Given the description of an element on the screen output the (x, y) to click on. 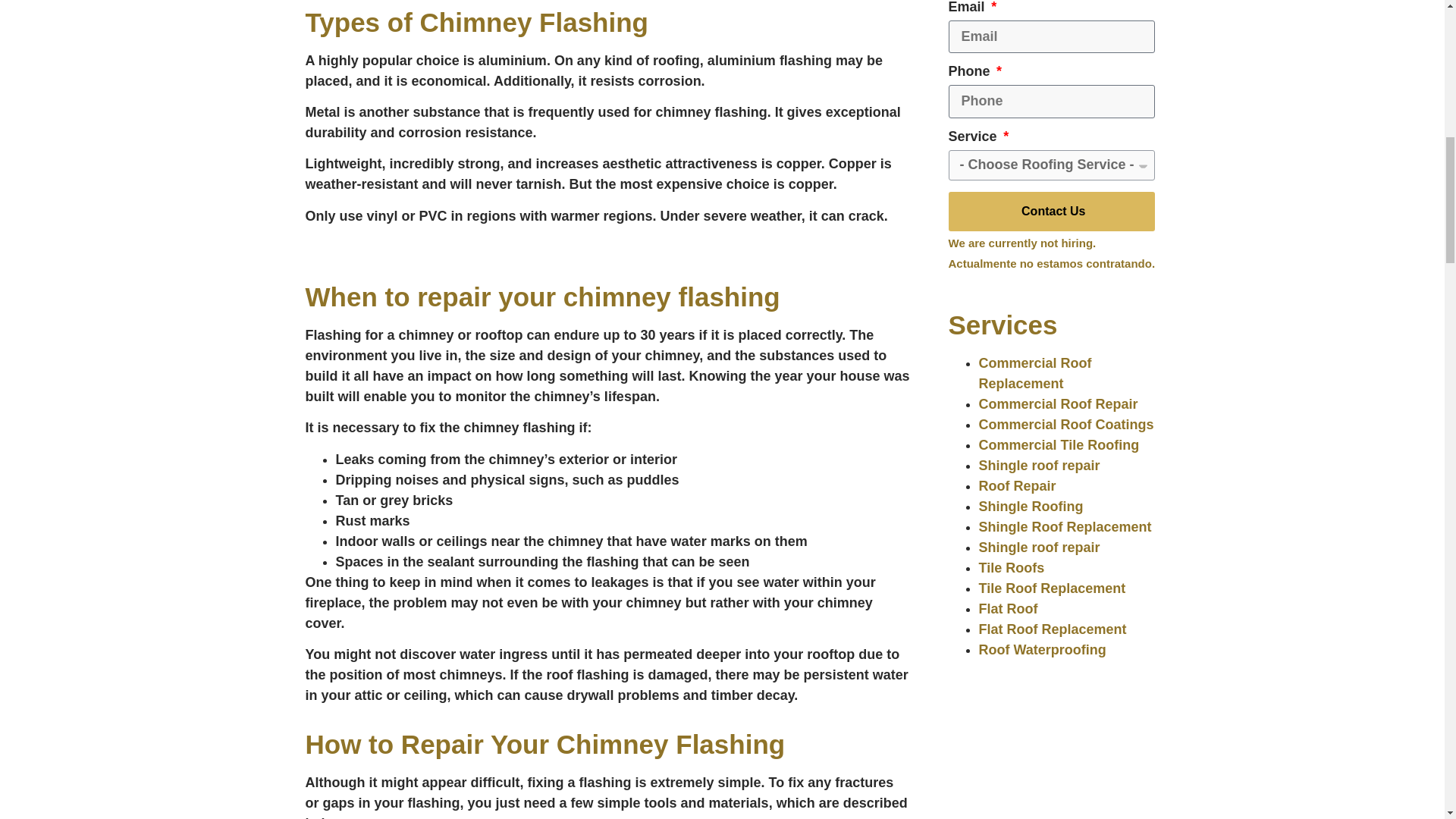
Contact Us (1050, 210)
